Given the description of an element on the screen output the (x, y) to click on. 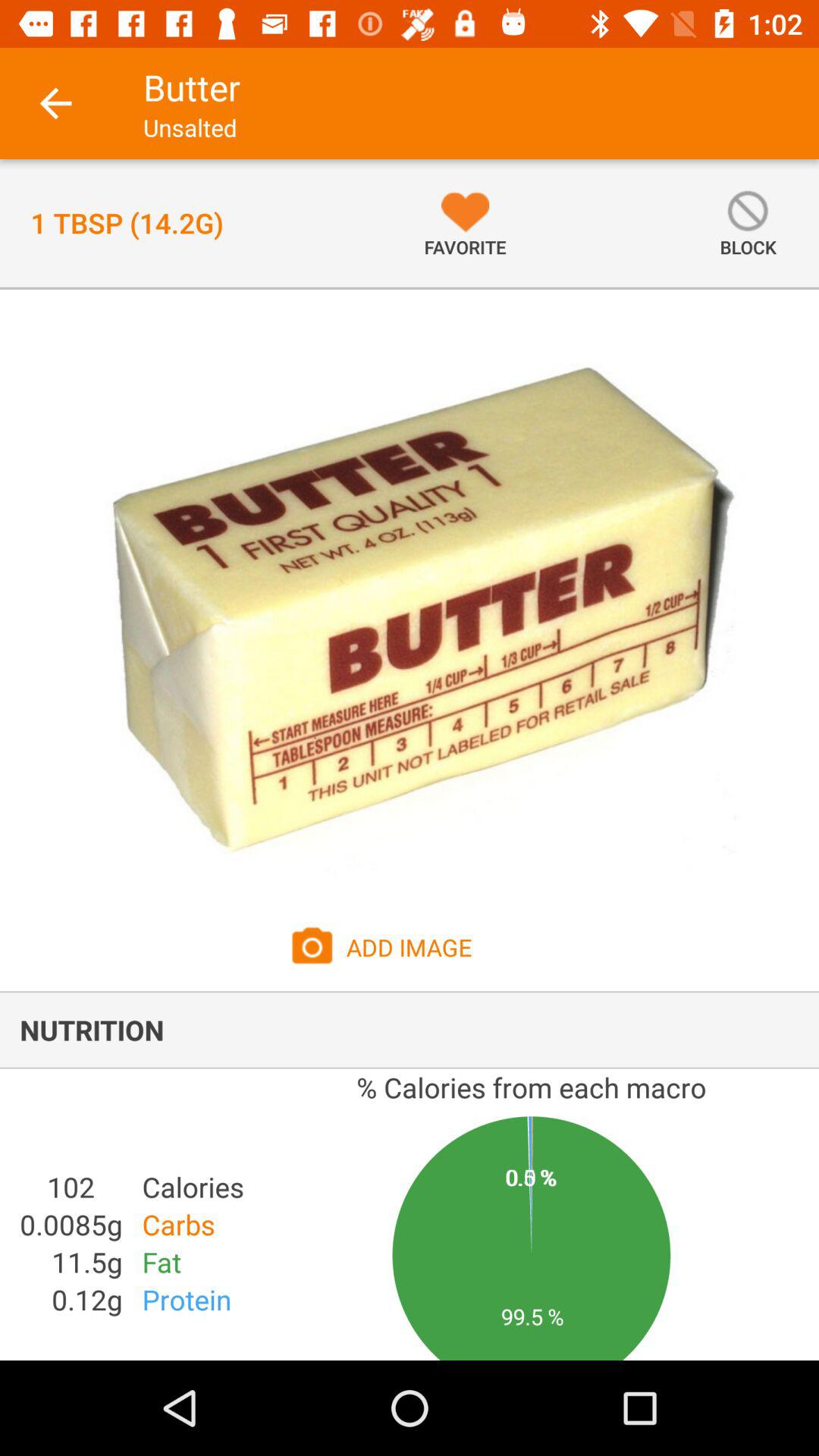
swipe until the 1 tbsp 14 icon (126, 223)
